Given the description of an element on the screen output the (x, y) to click on. 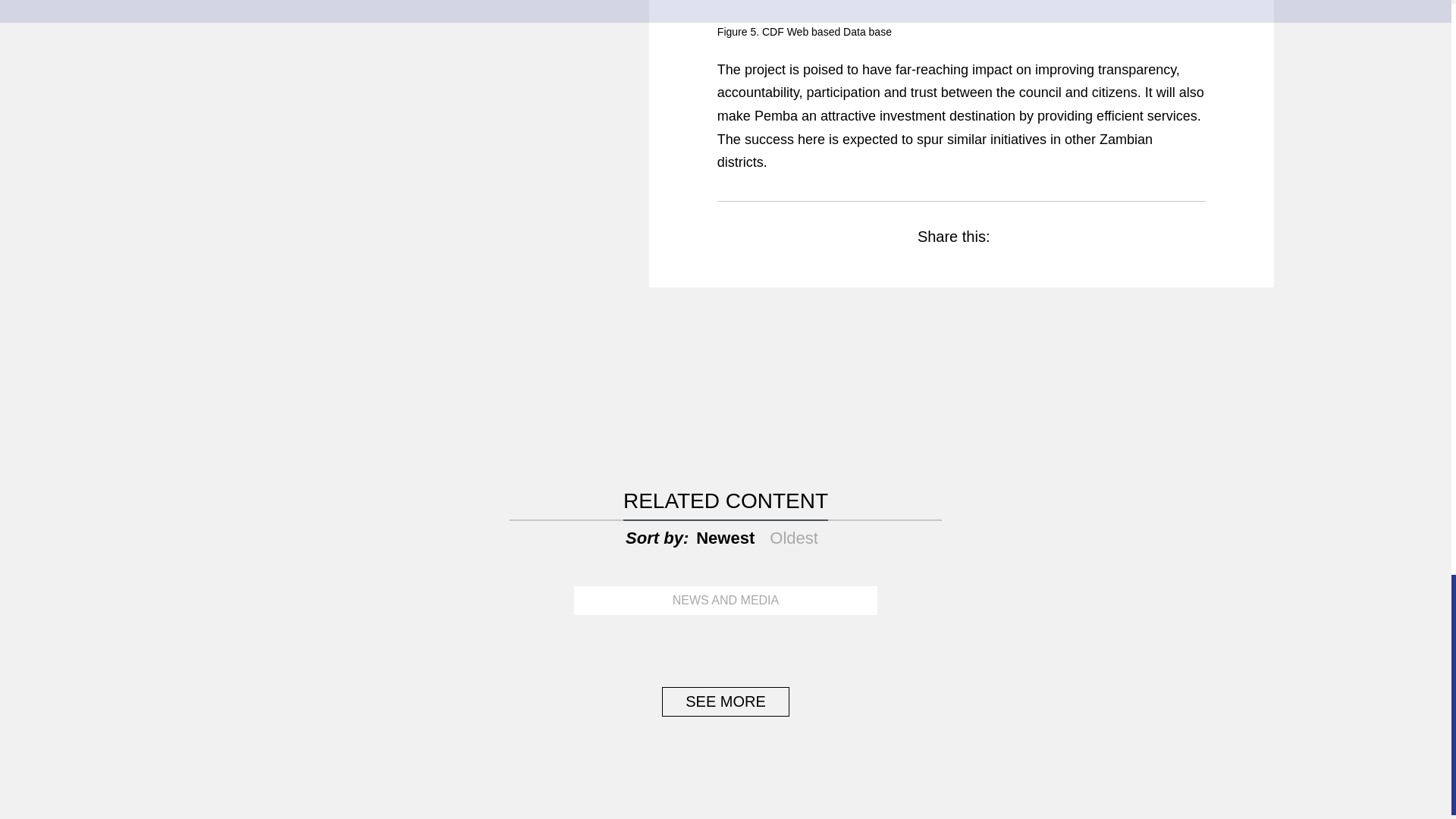
SEE MORE (725, 701)
NEWS AND MEDIA (725, 600)
Oldest (794, 537)
Newest (724, 537)
